Given the description of an element on the screen output the (x, y) to click on. 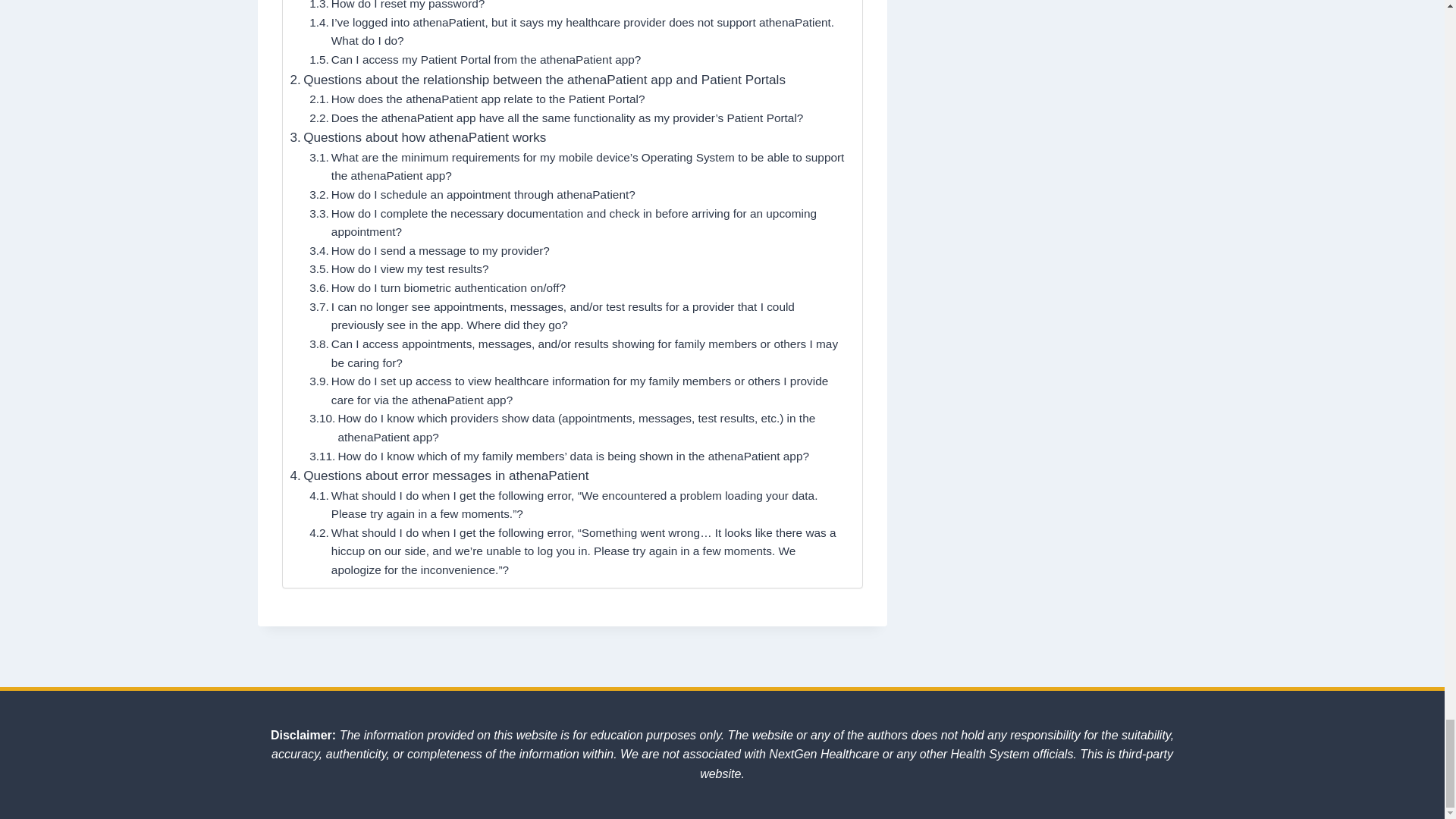
How does the athenaPatient app relate to the Patient Portal? (476, 99)
Can I access my Patient Portal from the athenaPatient app? (474, 59)
How do I reset my password? (396, 6)
Can I access my Patient Portal from the athenaPatient app? (474, 59)
Questions about how athenaPatient works (417, 137)
How do I schedule an appointment through athenaPatient? (471, 194)
How do I view my test results? (397, 269)
